Given the description of an element on the screen output the (x, y) to click on. 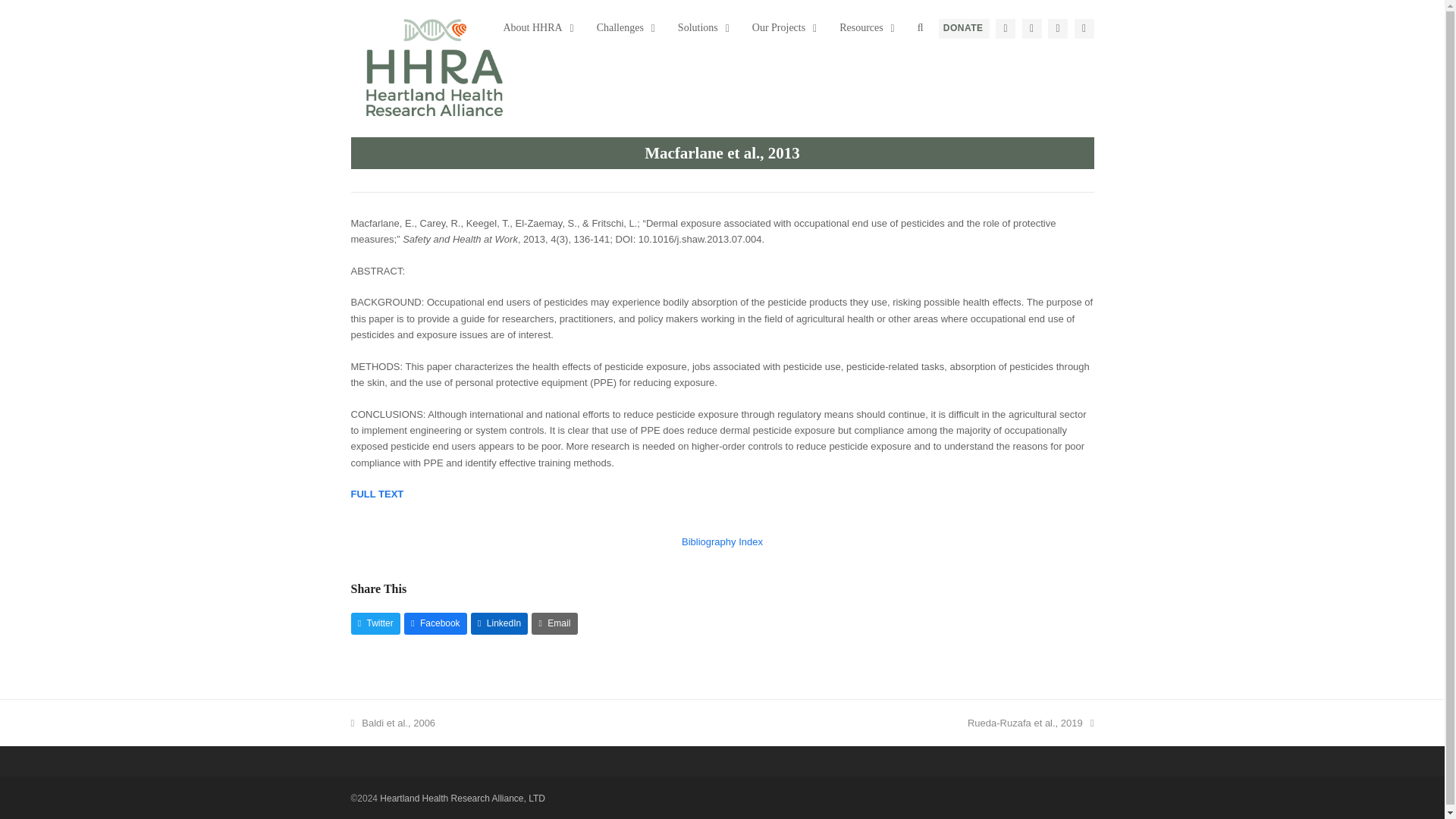
Our Projects (780, 27)
About HHRA (533, 27)
Challenges (621, 27)
Twitter (1032, 28)
Solutions (699, 27)
Donate (963, 28)
Youtube (712, 27)
Instagram (1084, 28)
Facebook (1057, 28)
